Given the description of an element on the screen output the (x, y) to click on. 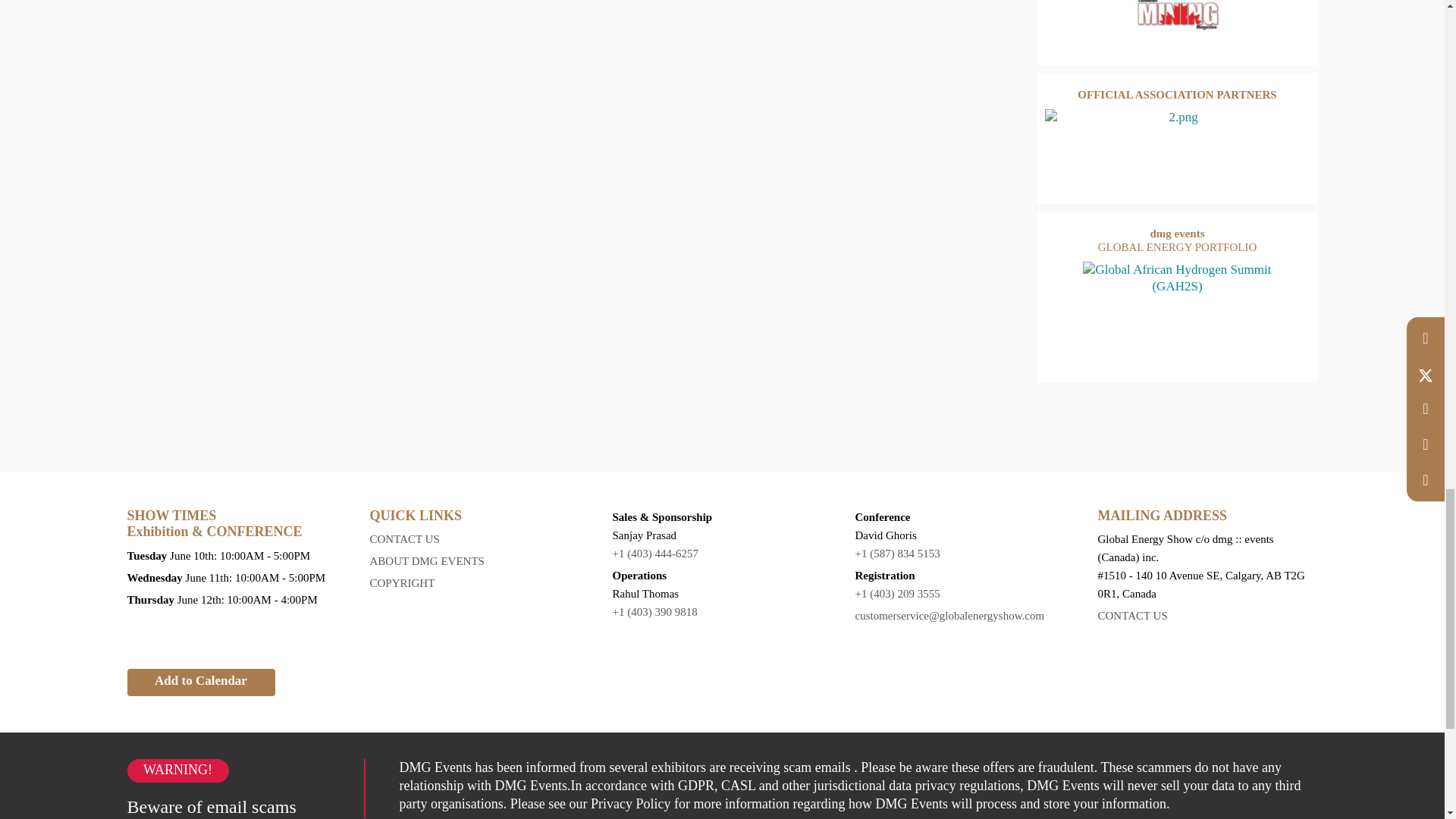
Contact Us (1207, 615)
